Given the description of an element on the screen output the (x, y) to click on. 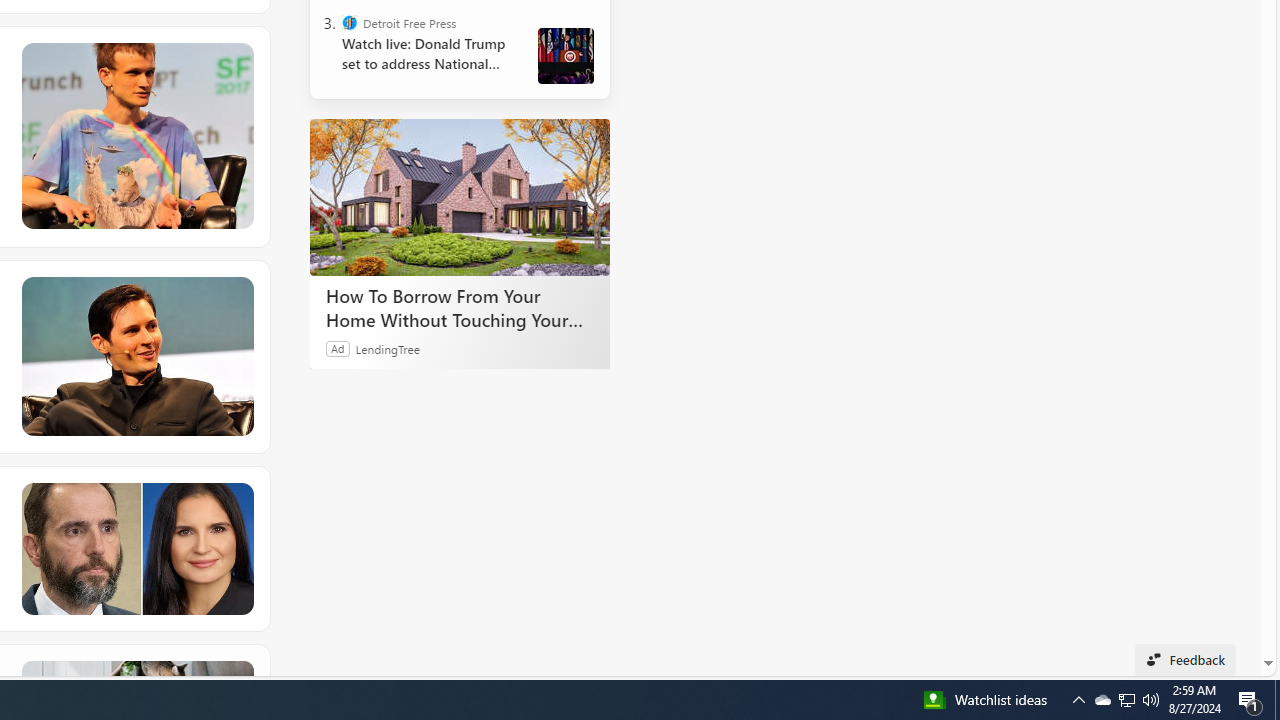
Detroit Free Press (349, 22)
